Given the description of an element on the screen output the (x, y) to click on. 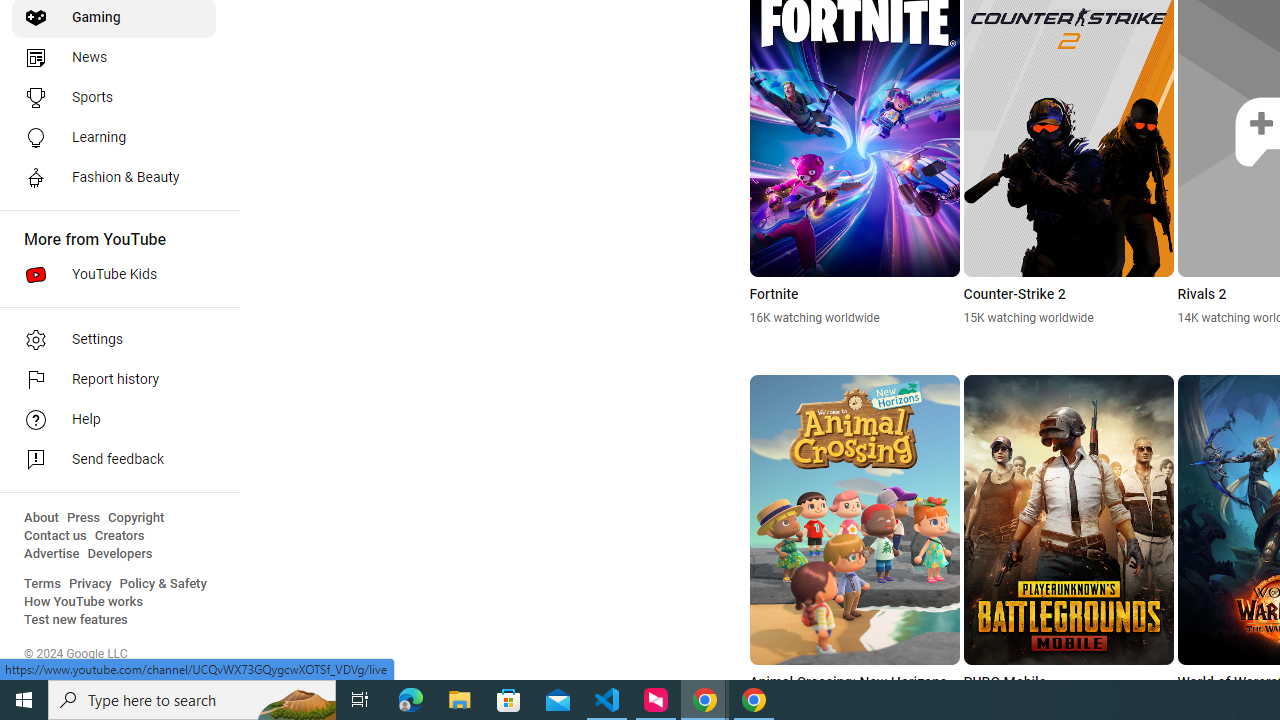
Contact us (55, 536)
Send feedback (113, 459)
Sports (113, 97)
Press (83, 518)
Creators (118, 536)
Policy & Safety (163, 584)
